Given the description of an element on the screen output the (x, y) to click on. 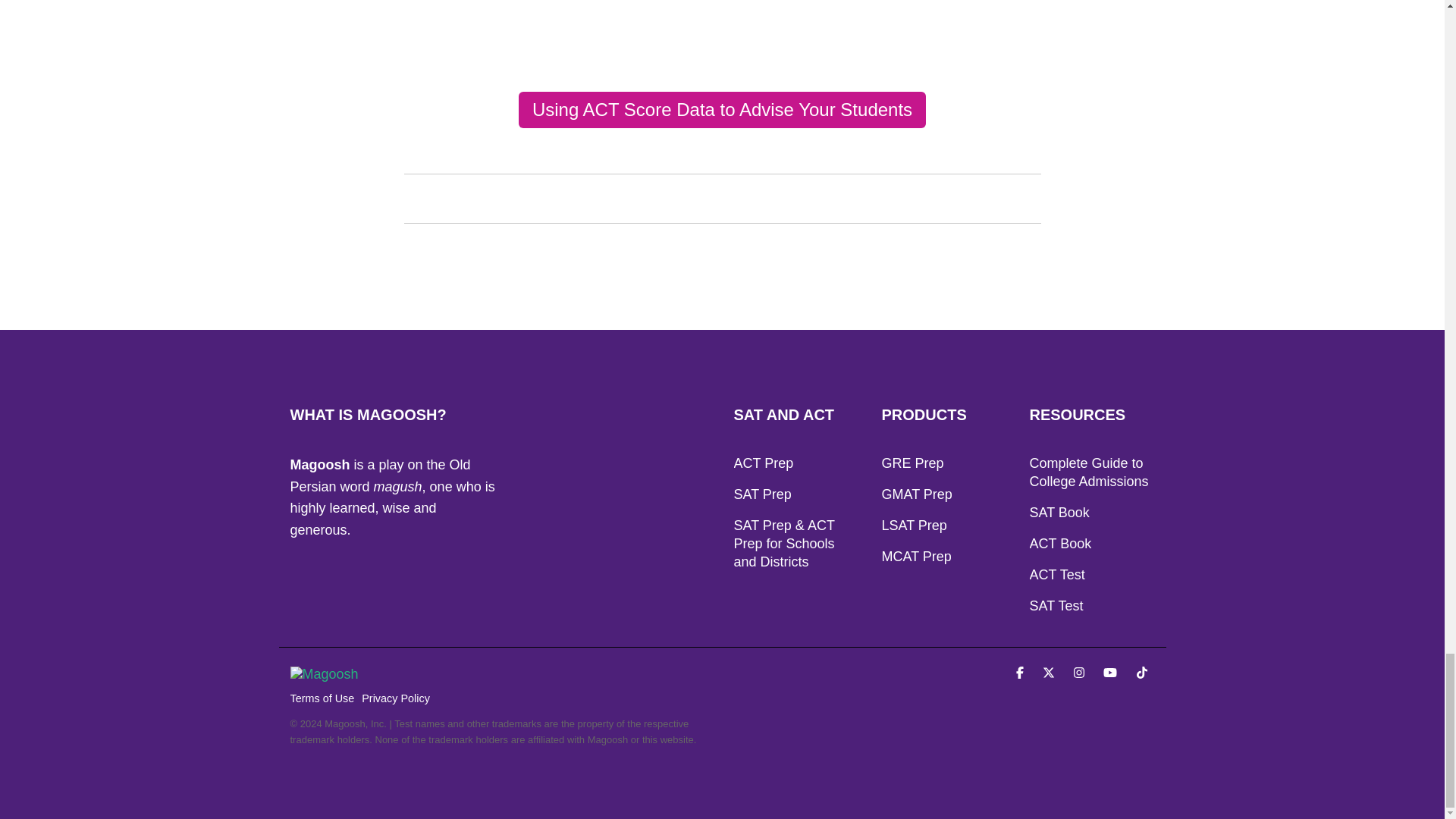
Using ACT Score Data to Advise Your Students (722, 109)
